Given the description of an element on the screen output the (x, y) to click on. 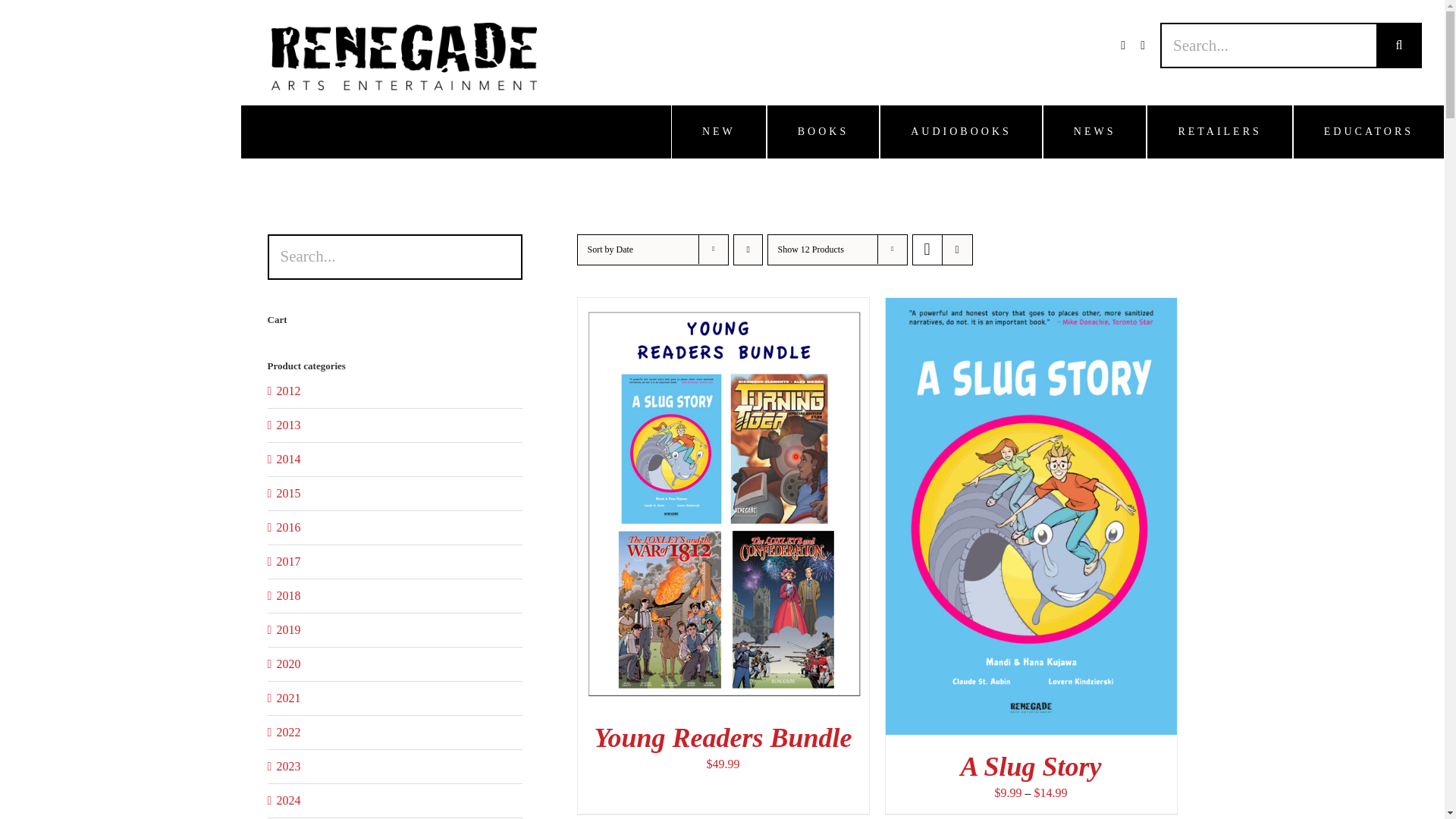
BOOKS (823, 131)
Show 12 Products (810, 249)
NEW (719, 131)
Sort by Date (609, 249)
AUDIOBOOKS (960, 131)
RETAILERS (1219, 131)
NEWS (1094, 131)
